Given the description of an element on the screen output the (x, y) to click on. 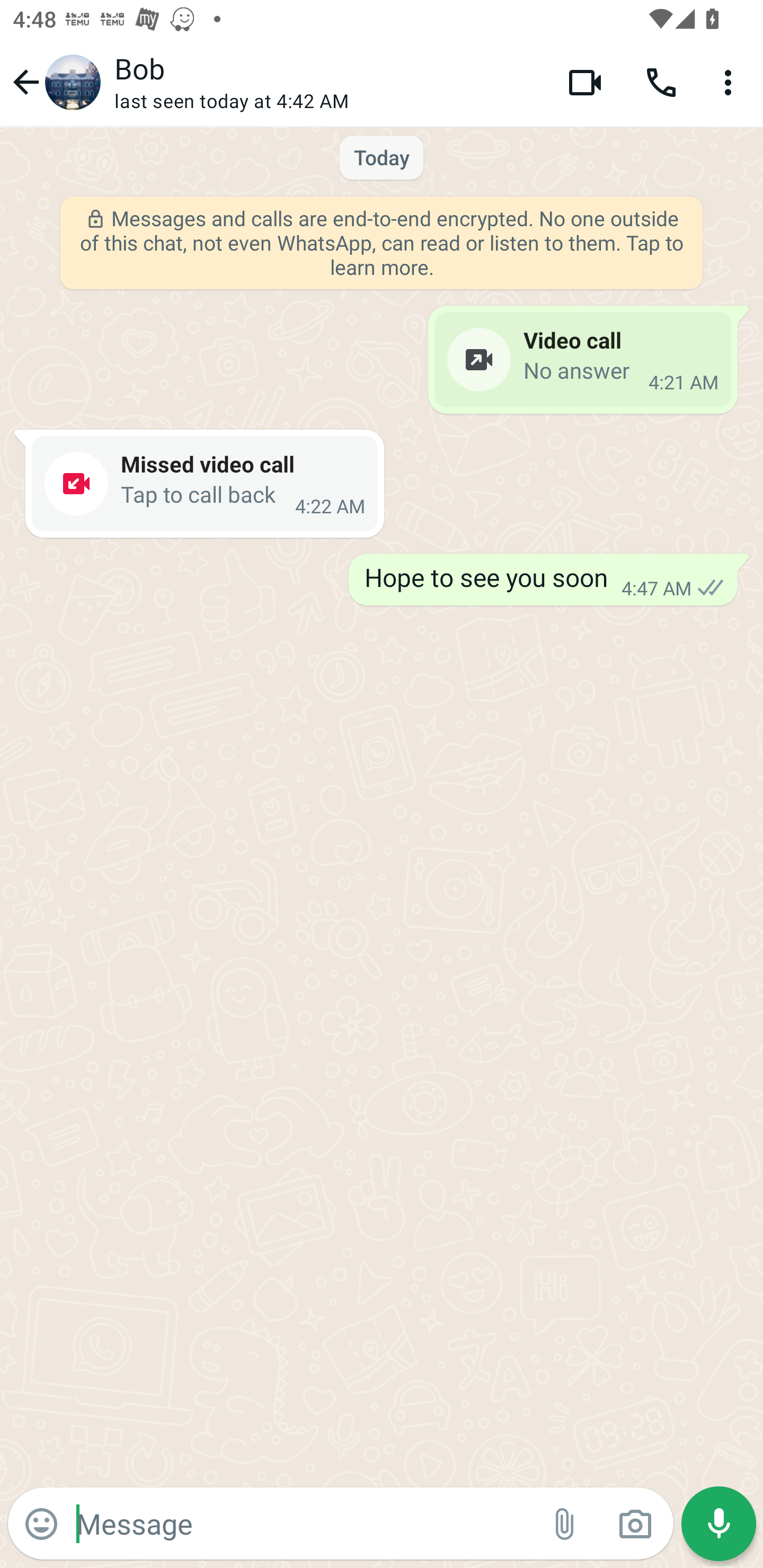
Bob last seen today at 4:42 AM (327, 82)
Navigate up (54, 82)
Video call (585, 81)
Voice call (661, 81)
More options (731, 81)
Emoji (41, 1523)
Attach (565, 1523)
Camera (634, 1523)
Message (303, 1523)
